Given the description of an element on the screen output the (x, y) to click on. 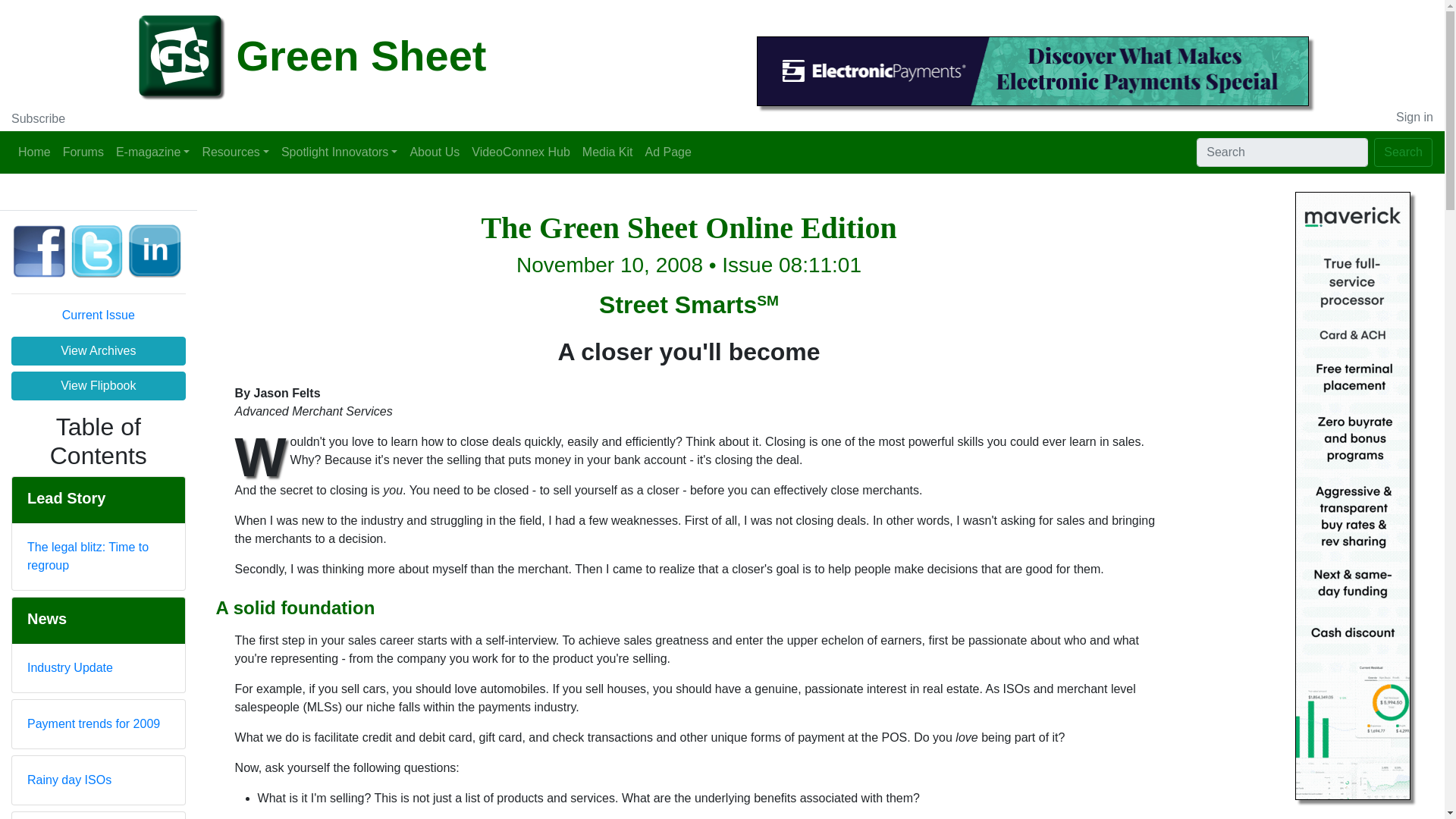
VideoConnex Hub (520, 152)
E-magazine (152, 152)
Spotlight Innovators (339, 152)
Forums (83, 152)
View Archives (98, 350)
Current Issue (98, 314)
About Us (434, 152)
Ad Page (668, 152)
Resources (235, 152)
Search (1403, 152)
